Given the description of an element on the screen output the (x, y) to click on. 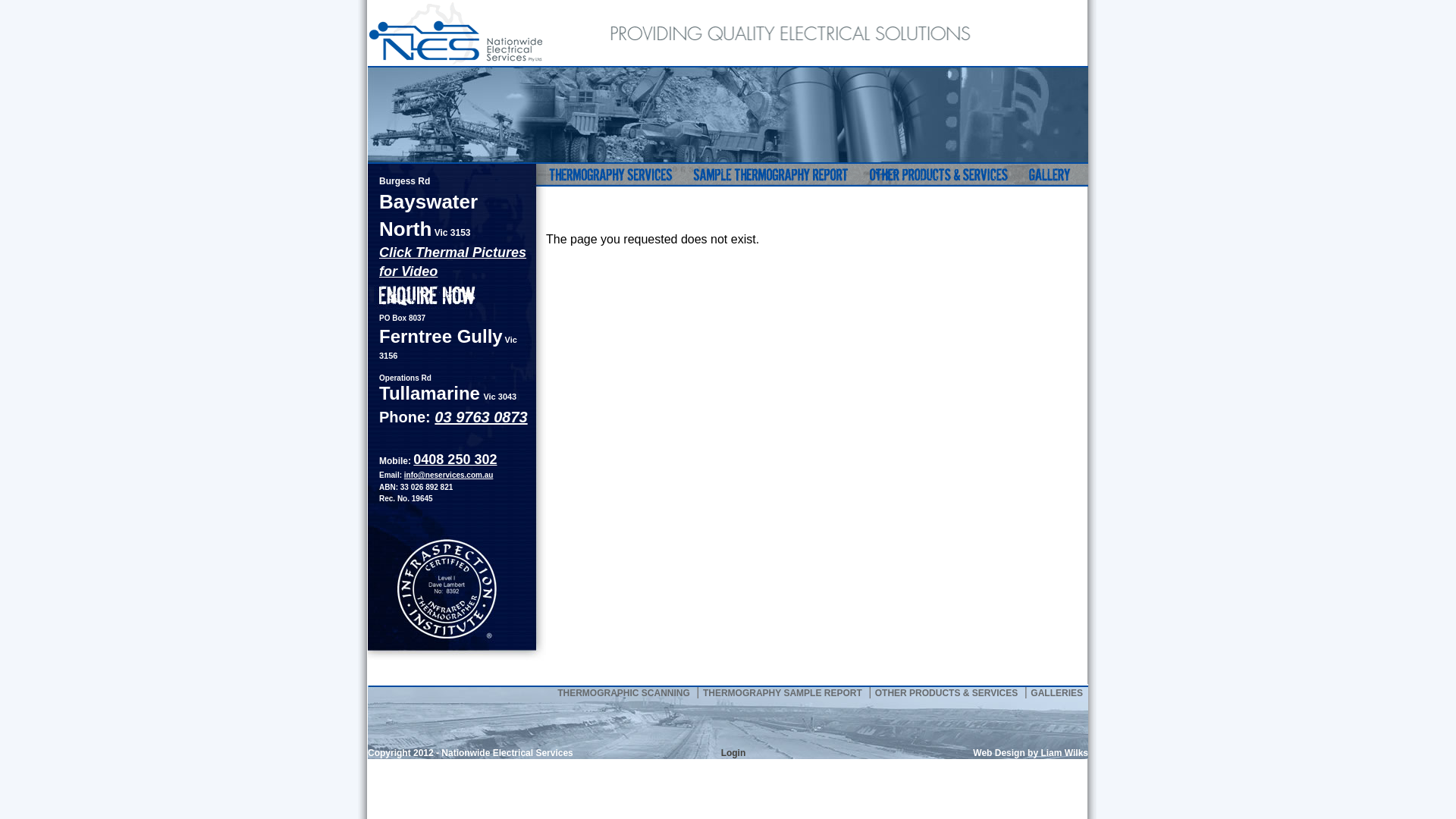
Thermography Sample Report Element type: text (768, 174)
GALLERIES Element type: text (1056, 692)
THERMOGRAPHIC SCANNING Element type: text (623, 692)
Login Element type: text (733, 752)
info@neservices.com.au Element type: text (448, 474)
Galleries Element type: text (1052, 174)
THERMOGRAPHY SAMPLE REPORT Element type: text (782, 692)
OTHER PRODUCTS & SERVICES Element type: text (946, 692)
Other Products & Services Element type: text (936, 174)
Thermographic Scanning Element type: text (613, 174)
